Given the description of an element on the screen output the (x, y) to click on. 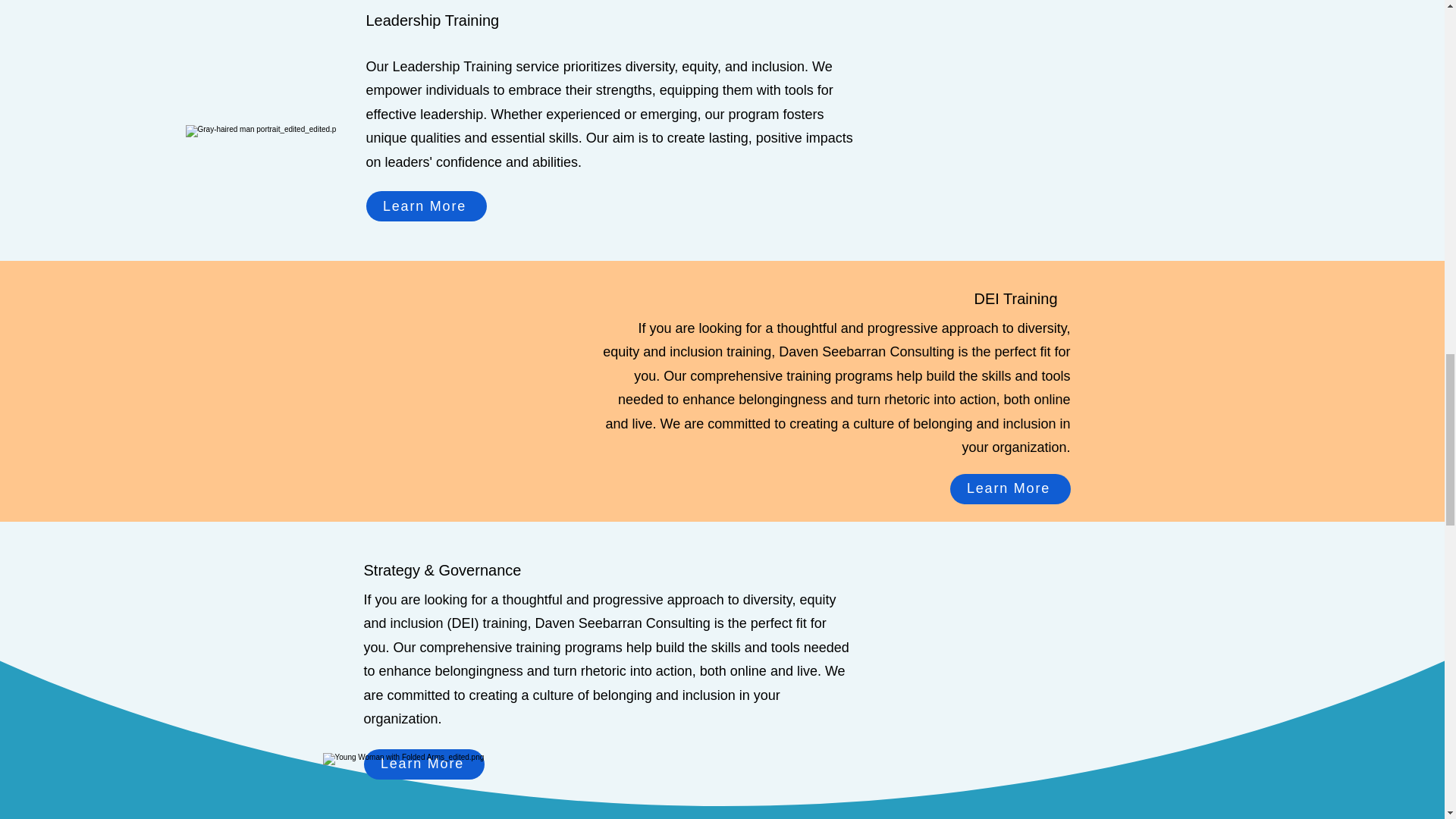
Learn More (1009, 489)
Learn More (424, 764)
Learn More (425, 205)
